Given the description of an element on the screen output the (x, y) to click on. 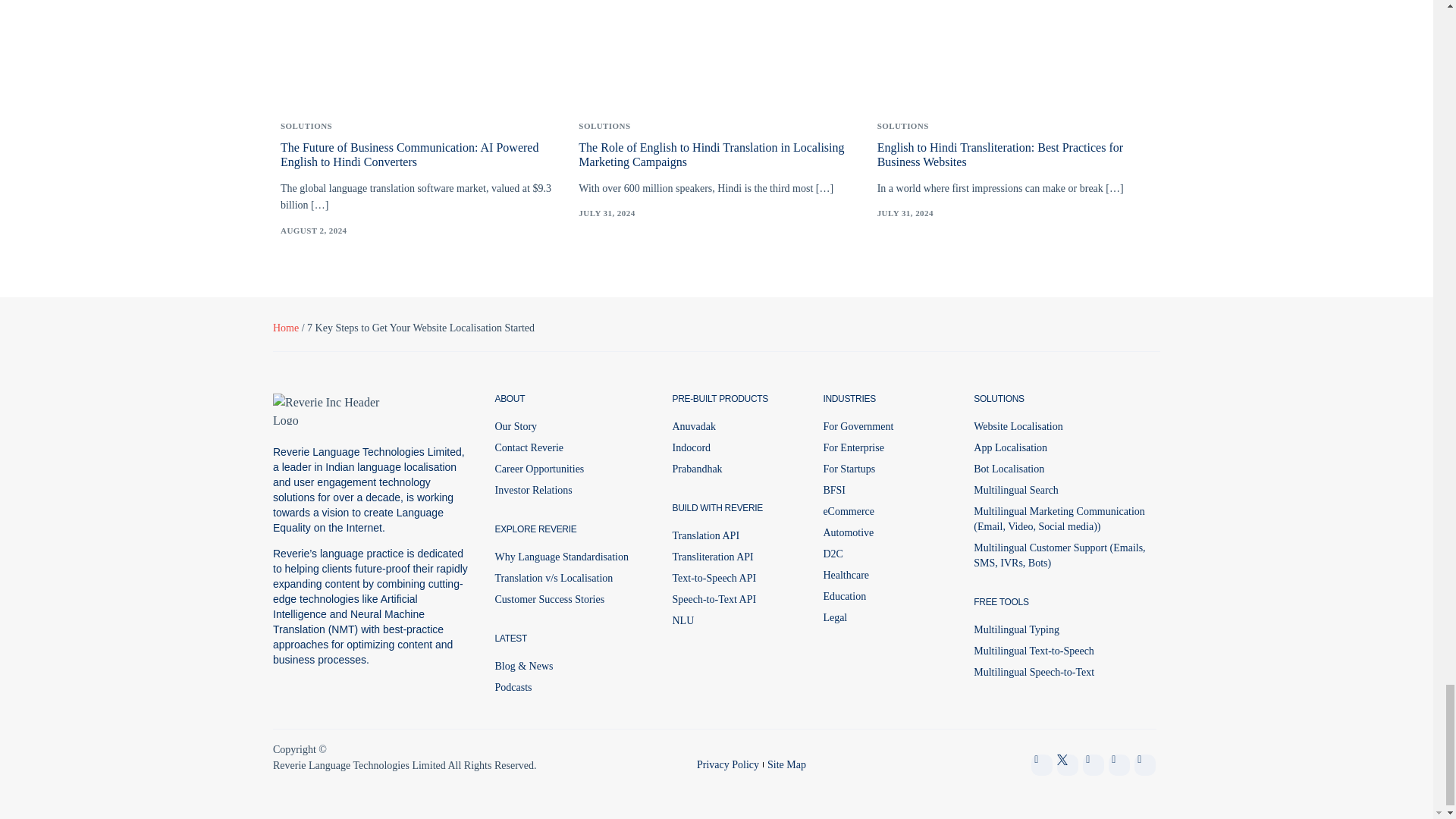
View Solutions posts (306, 126)
View Solutions posts (604, 126)
View Solutions posts (902, 126)
